Given the description of an element on the screen output the (x, y) to click on. 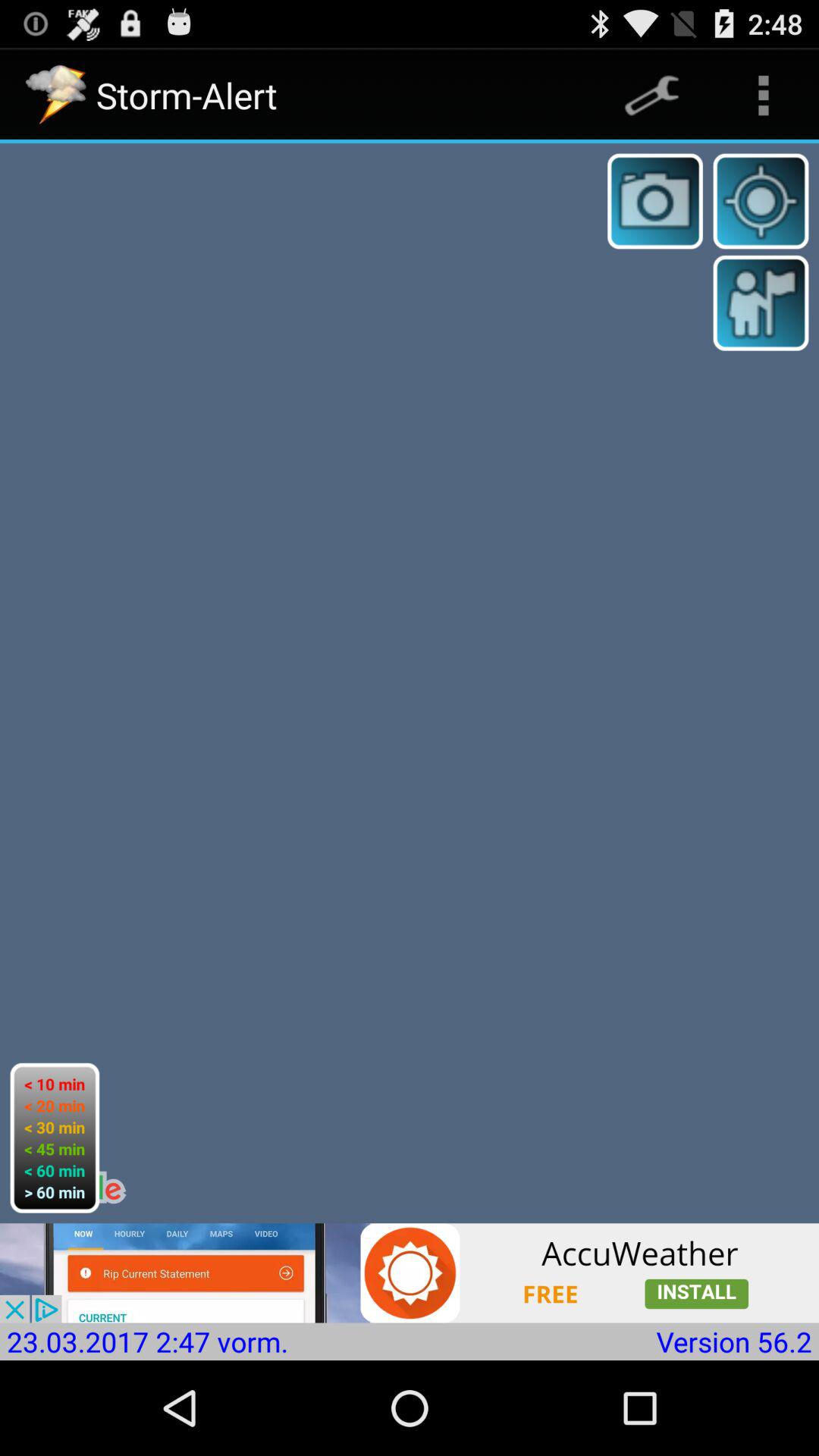
turn on the item above the 23 03 2017 icon (409, 1272)
